Given the description of an element on the screen output the (x, y) to click on. 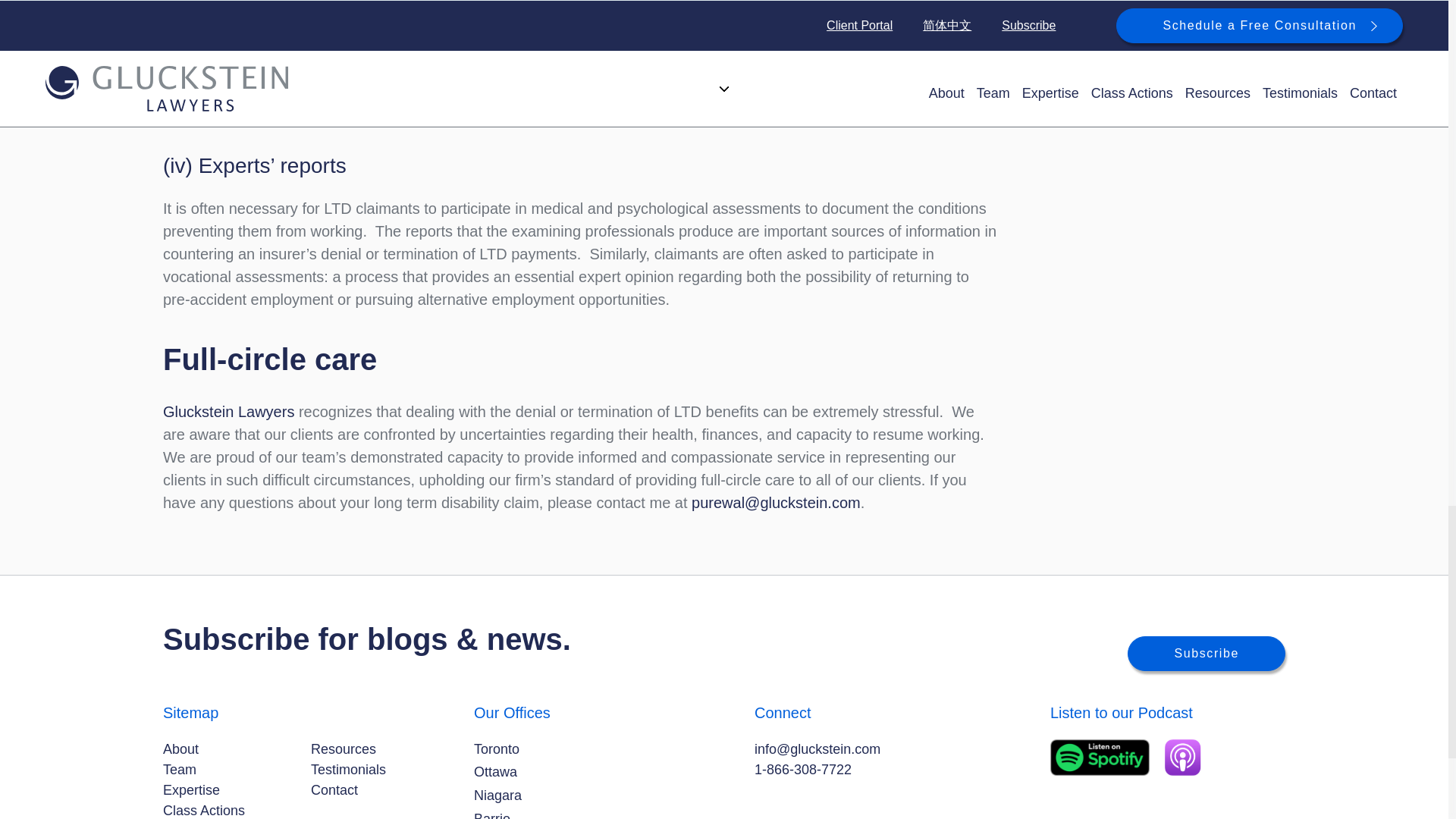
Call Gluckstein LLP now (802, 769)
Toronto (496, 749)
Email Gluckstein LLP now (817, 749)
Ottawa (495, 772)
Barrie (492, 814)
Niagara (497, 795)
